Given the description of an element on the screen output the (x, y) to click on. 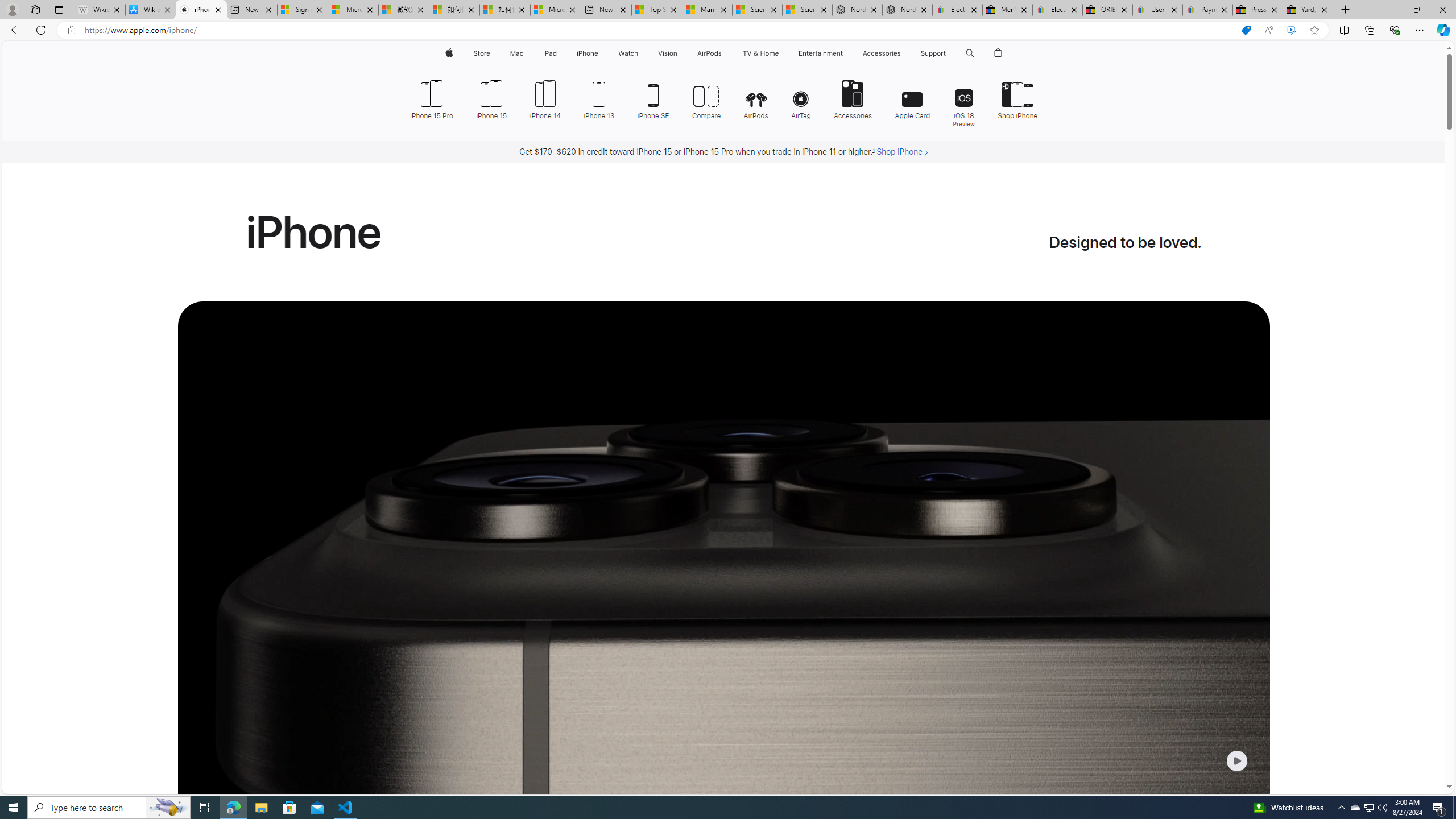
Press Room - eBay Inc. (1257, 9)
TV and Home (759, 53)
Apple (448, 53)
Class: globalnav-submenu-trigger-item (948, 53)
Support (932, 53)
Play welcome animation video (1236, 761)
iPhone 15 Pro (435, 98)
iPhone SE (653, 98)
Entertainment menu (844, 53)
TV & Home (759, 53)
iPad (550, 53)
